Given the description of an element on the screen output the (x, y) to click on. 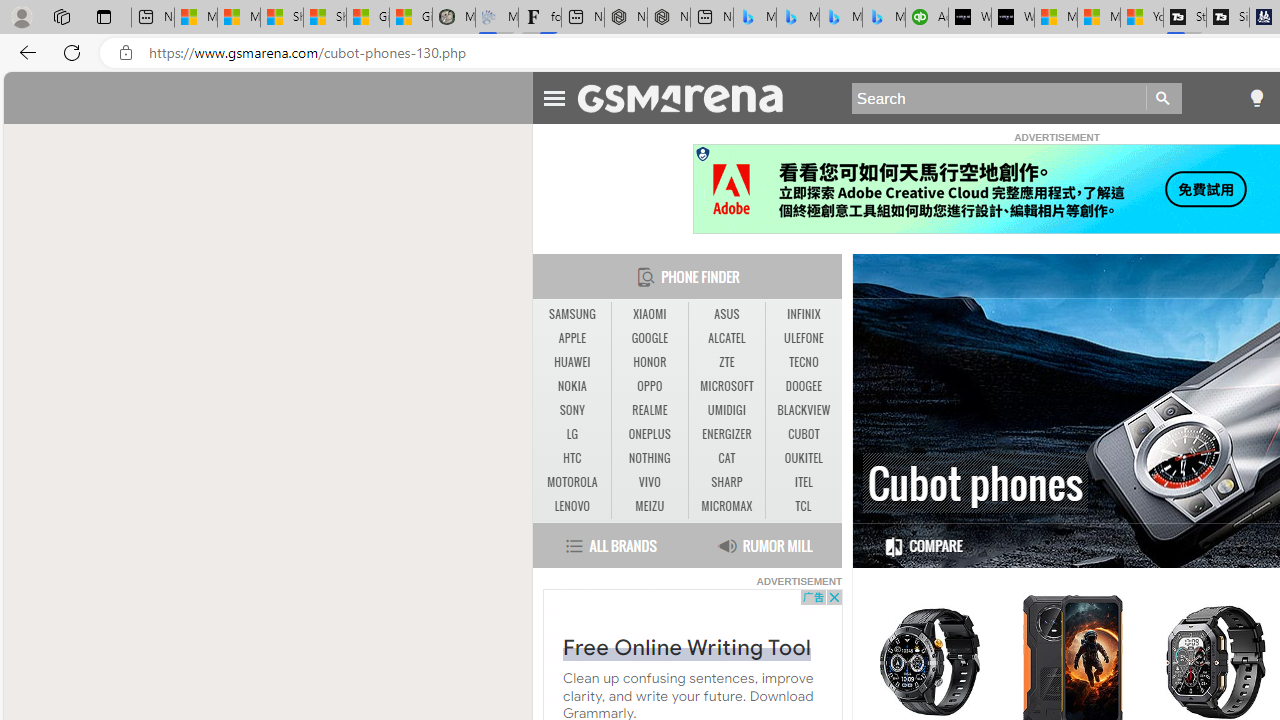
GOOGLE (649, 338)
Go (1163, 97)
DOOGEE (803, 386)
VIVO (649, 483)
ALCATEL (726, 338)
HUAWEI (571, 362)
SHARP (726, 482)
GOOGLE (649, 339)
LG (571, 434)
MOTOROLA (571, 483)
